Given the description of an element on the screen output the (x, y) to click on. 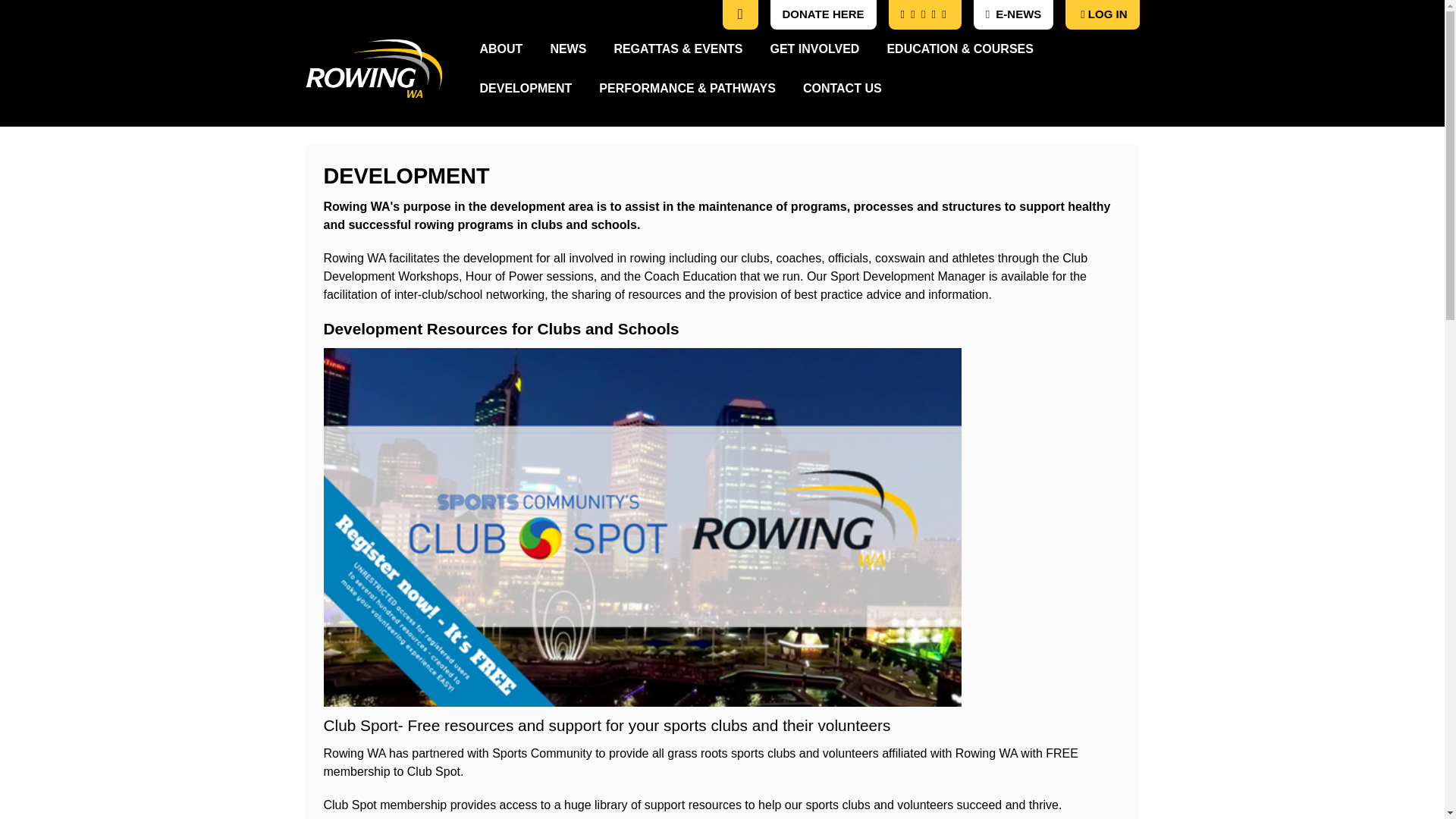
LOG IN (1103, 14)
E-NEWS (1013, 13)
NEWS (567, 47)
ABOUT (500, 47)
Opens in new window (567, 47)
DONATE HERE (823, 13)
